Given the description of an element on the screen output the (x, y) to click on. 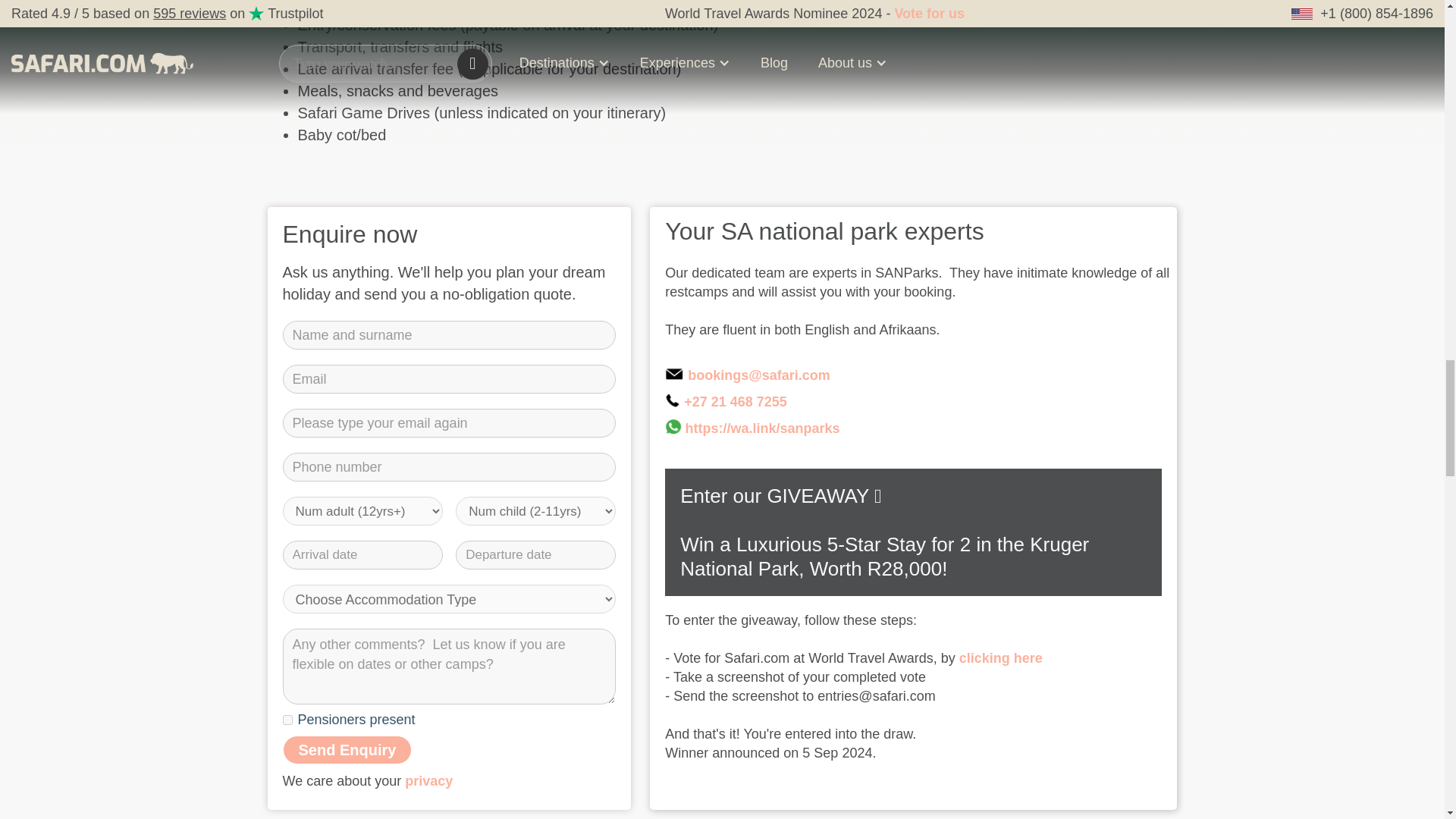
on (287, 719)
Send Enquiry (347, 749)
